Given the description of an element on the screen output the (x, y) to click on. 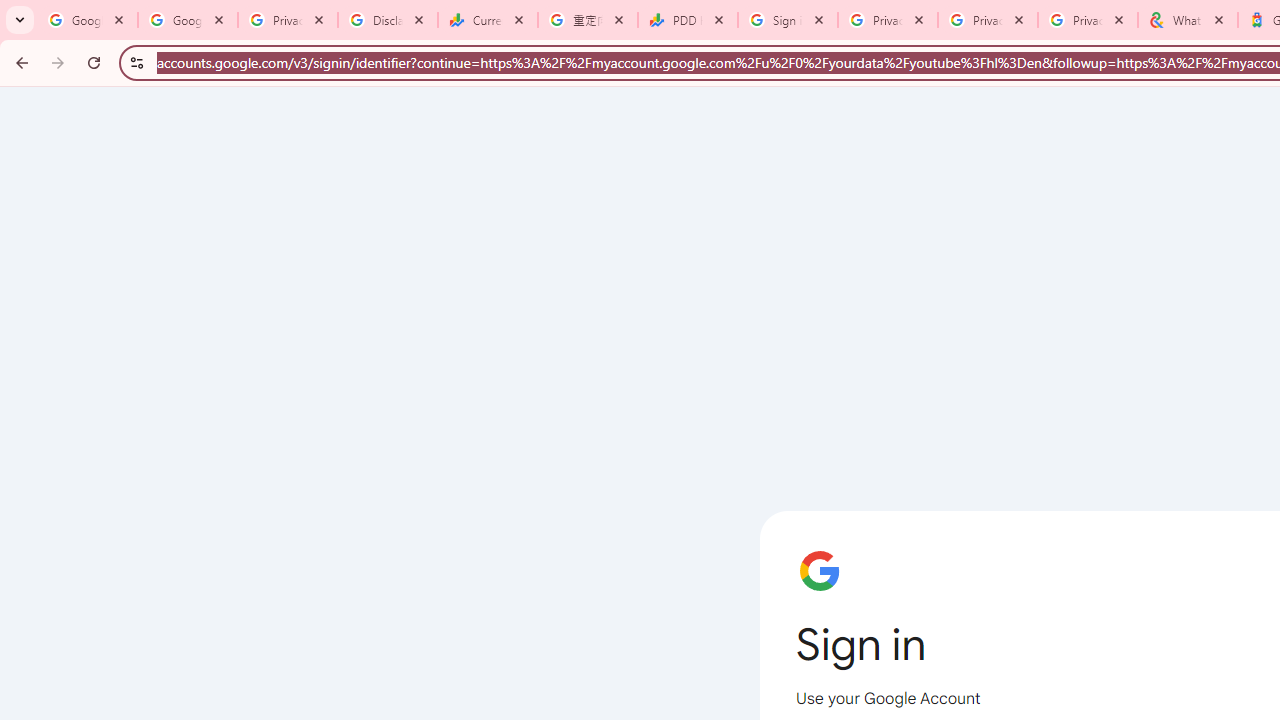
PDD Holdings Inc - ADR (PDD) Price & News - Google Finance (687, 20)
Google Workspace Admin Community (87, 20)
